Given the description of an element on the screen output the (x, y) to click on. 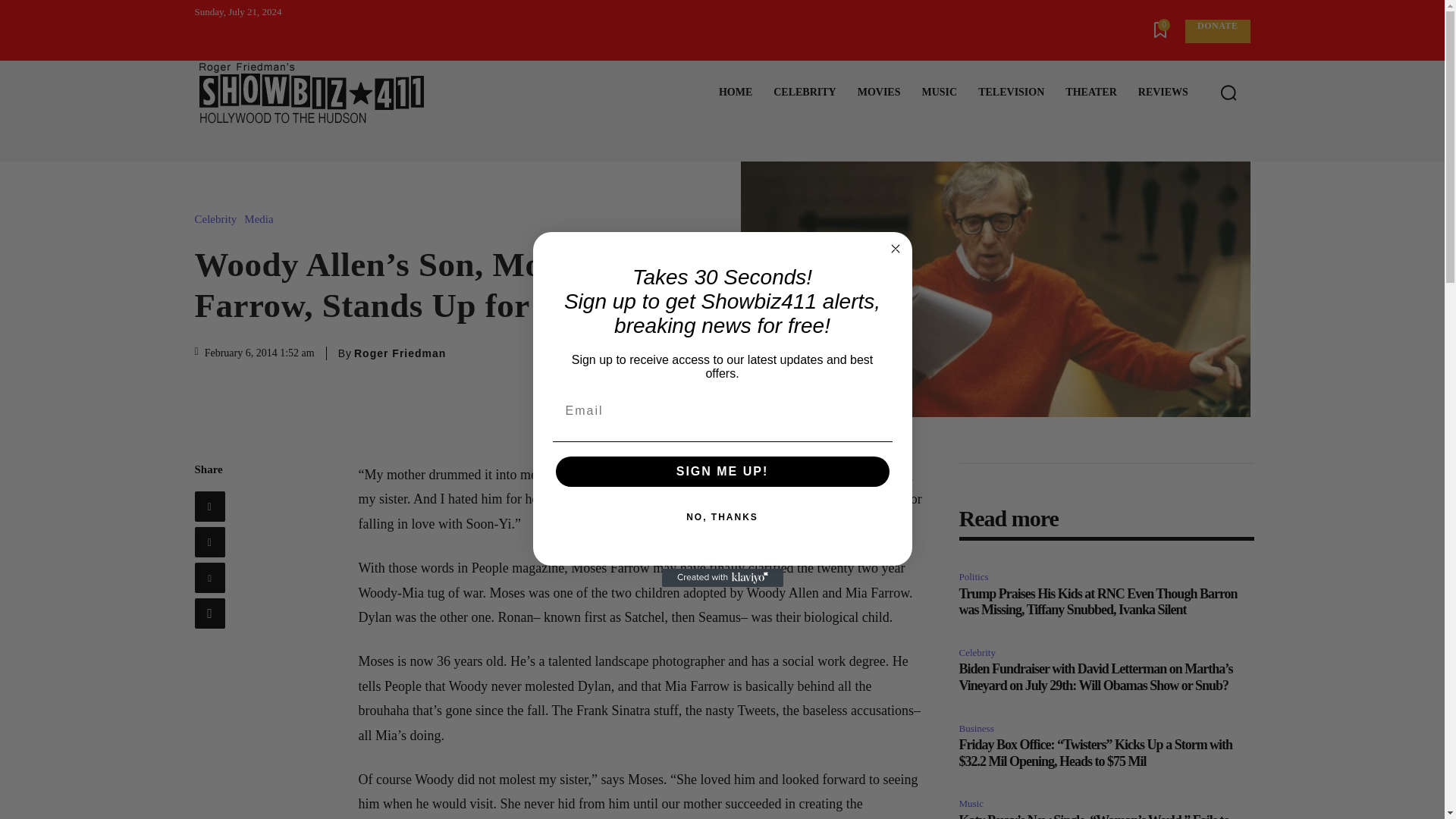
CELEBRITY (803, 92)
DONATE (1217, 31)
WhatsApp (208, 613)
TELEVISION (1011, 92)
Twitter (208, 542)
MUSIC (939, 92)
THEATER (1090, 92)
Facebook (208, 506)
HOME (734, 92)
REVIEWS (1162, 92)
Pinterest (208, 577)
Donate (1217, 31)
Woody-Allen (994, 288)
MOVIES (879, 92)
Celebrity (218, 219)
